Given the description of an element on the screen output the (x, y) to click on. 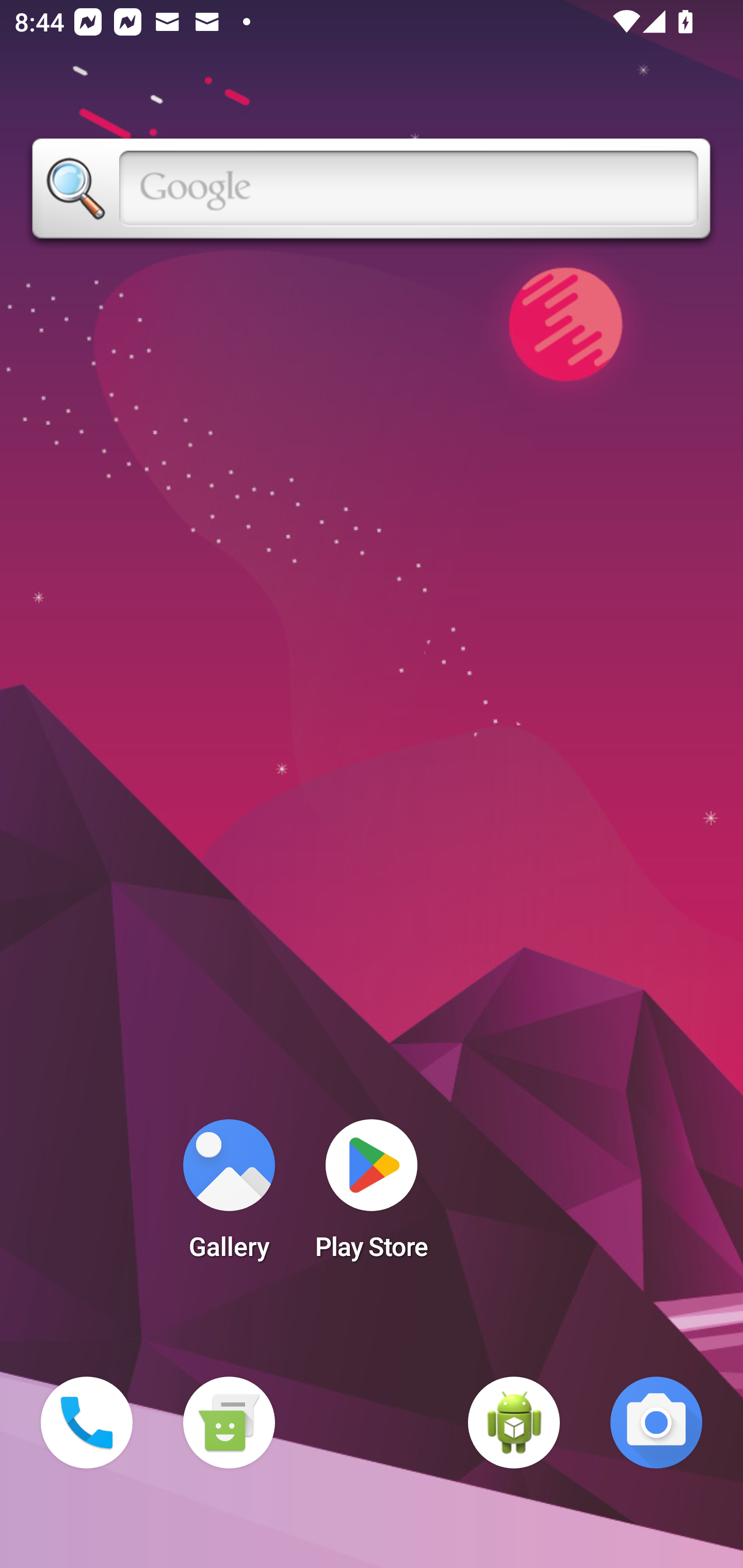
Gallery (228, 1195)
Play Store (371, 1195)
Phone (86, 1422)
Messaging (228, 1422)
WebView Browser Tester (513, 1422)
Camera (656, 1422)
